Given the description of an element on the screen output the (x, y) to click on. 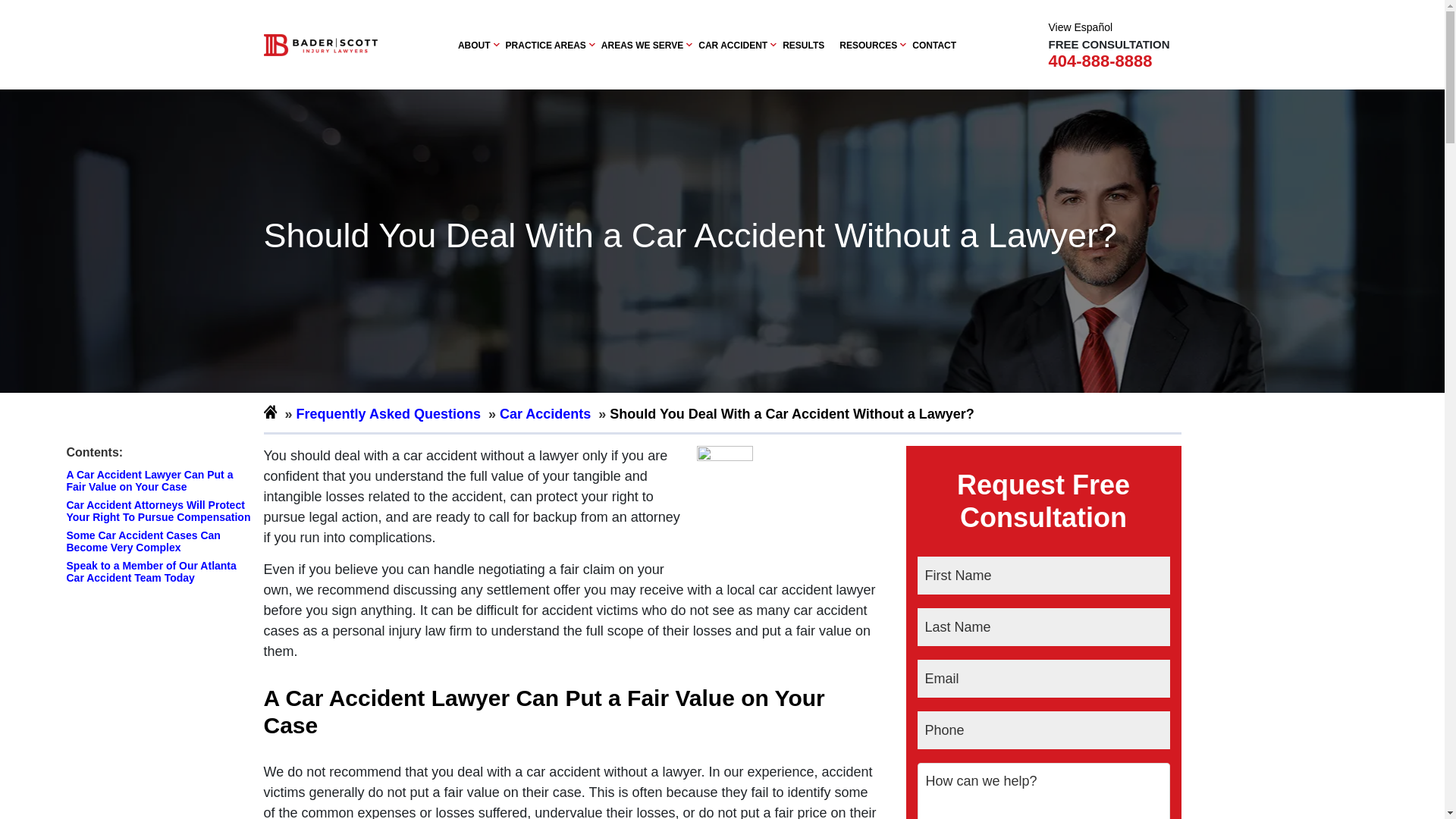
A Car Accident Lawyer Can Put a Fair Value on Your Case (160, 481)
ABOUT (474, 45)
Some Car Accident Cases Can Become Very Complex (160, 541)
PRACTICE AREAS (545, 45)
Speak to a Member of Our Atlanta Car Accident Team Today (160, 571)
AREAS WE SERVE (641, 45)
